Given the description of an element on the screen output the (x, y) to click on. 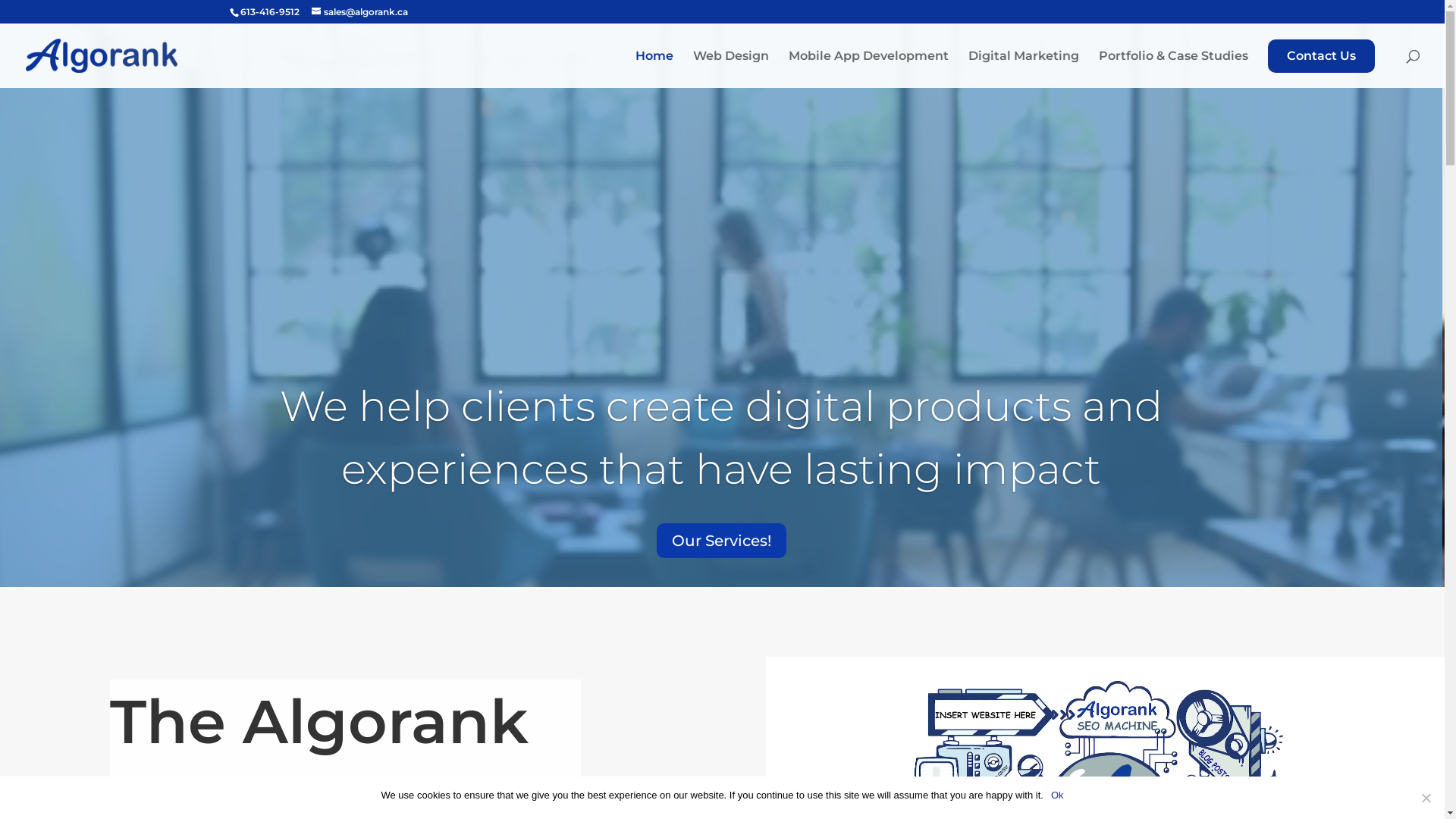
Our Services! Element type: text (721, 540)
Mobile App Development Element type: text (868, 68)
sales@algorank.ca Element type: text (358, 11)
Home Element type: text (654, 68)
No Element type: hover (1425, 797)
Digital Marketing Element type: text (1023, 68)
Portfolio & Case Studies Element type: text (1173, 68)
Ok Element type: text (1057, 795)
Web Design Element type: text (730, 68)
Contact Us Element type: text (1320, 55)
